Given the description of an element on the screen output the (x, y) to click on. 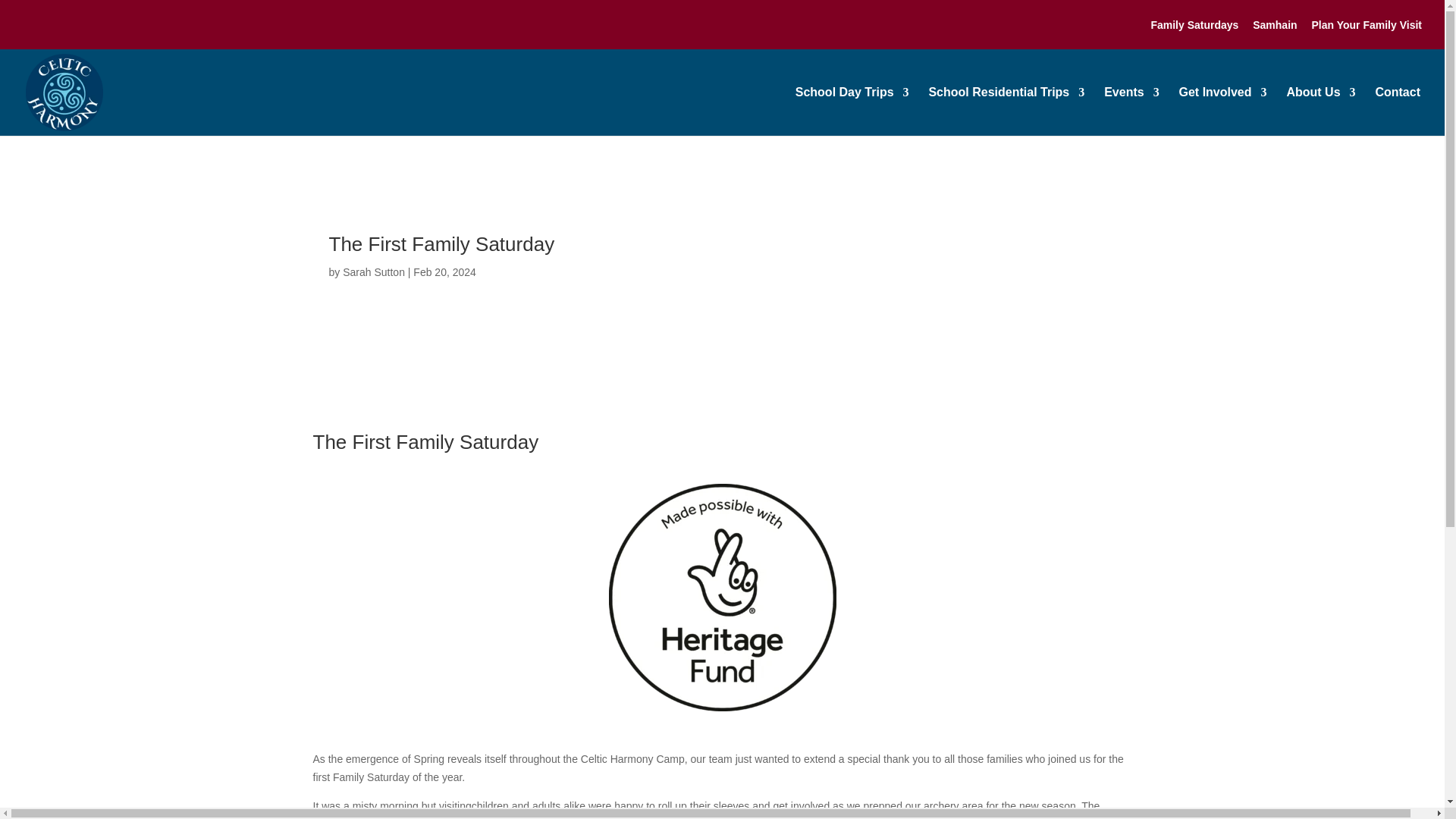
School Residential Trips (1006, 110)
Family Saturdays (1194, 28)
Posts by Sarah Sutton (373, 272)
School Day Trips (851, 110)
About Us (1320, 110)
Events (1130, 110)
Samhain (1274, 28)
Plan Your Family Visit (1366, 28)
Get Involved (1222, 110)
